Given the description of an element on the screen output the (x, y) to click on. 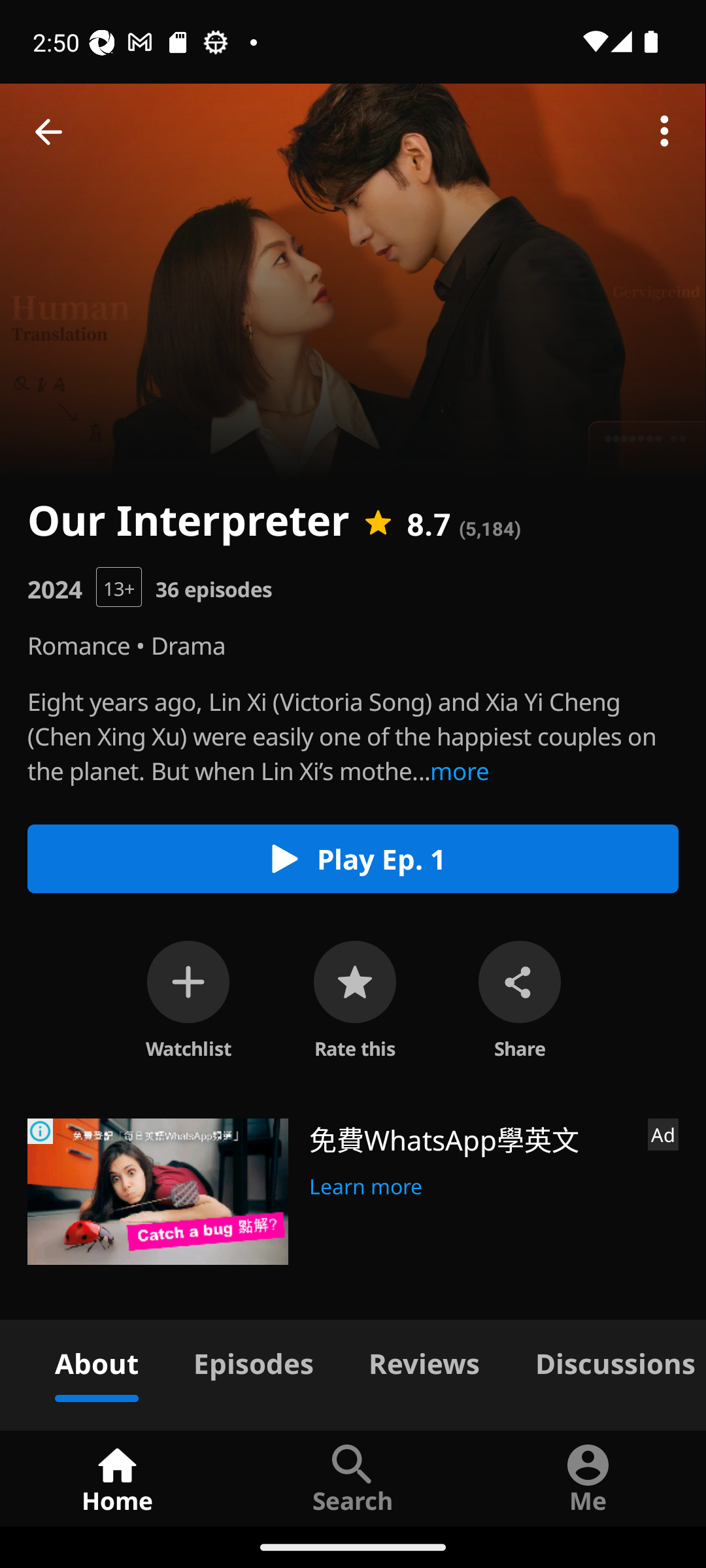
More (664, 131)
off (187, 981)
免費WhatsApp學英文 Ad Learn more Ad Choices Icon (352, 1191)
Ad Choices Icon (39, 1130)
免費WhatsApp學英文 (471, 1137)
Learn more (365, 1183)
Episodes (252, 1360)
Reviews (423, 1360)
Discussions (606, 1360)
Search (352, 1478)
Me (588, 1478)
